Given the description of an element on the screen output the (x, y) to click on. 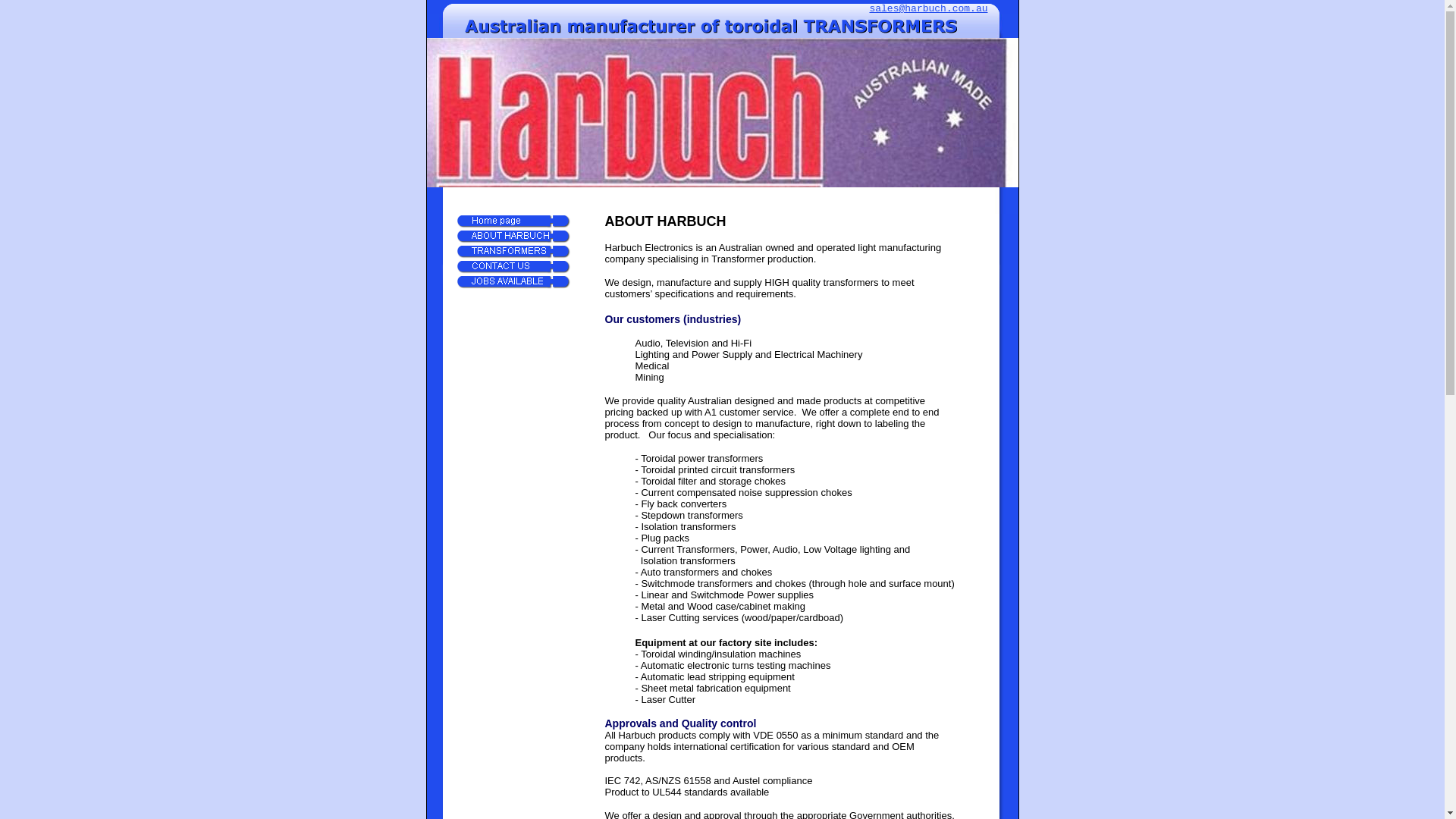
TRANSFORMERS Element type: hover (512, 251)
Australian manufacturer of toroidal TRANSFORMERS Element type: hover (721, 25)
ABOUT HARBUCH Element type: hover (512, 236)
JOBS AVAILABLE Element type: hover (512, 281)
sales@harbuch.com.au Element type: text (928, 8)
CONTACT US Element type: hover (512, 266)
Home Element type: hover (512, 221)
